Given the description of an element on the screen output the (x, y) to click on. 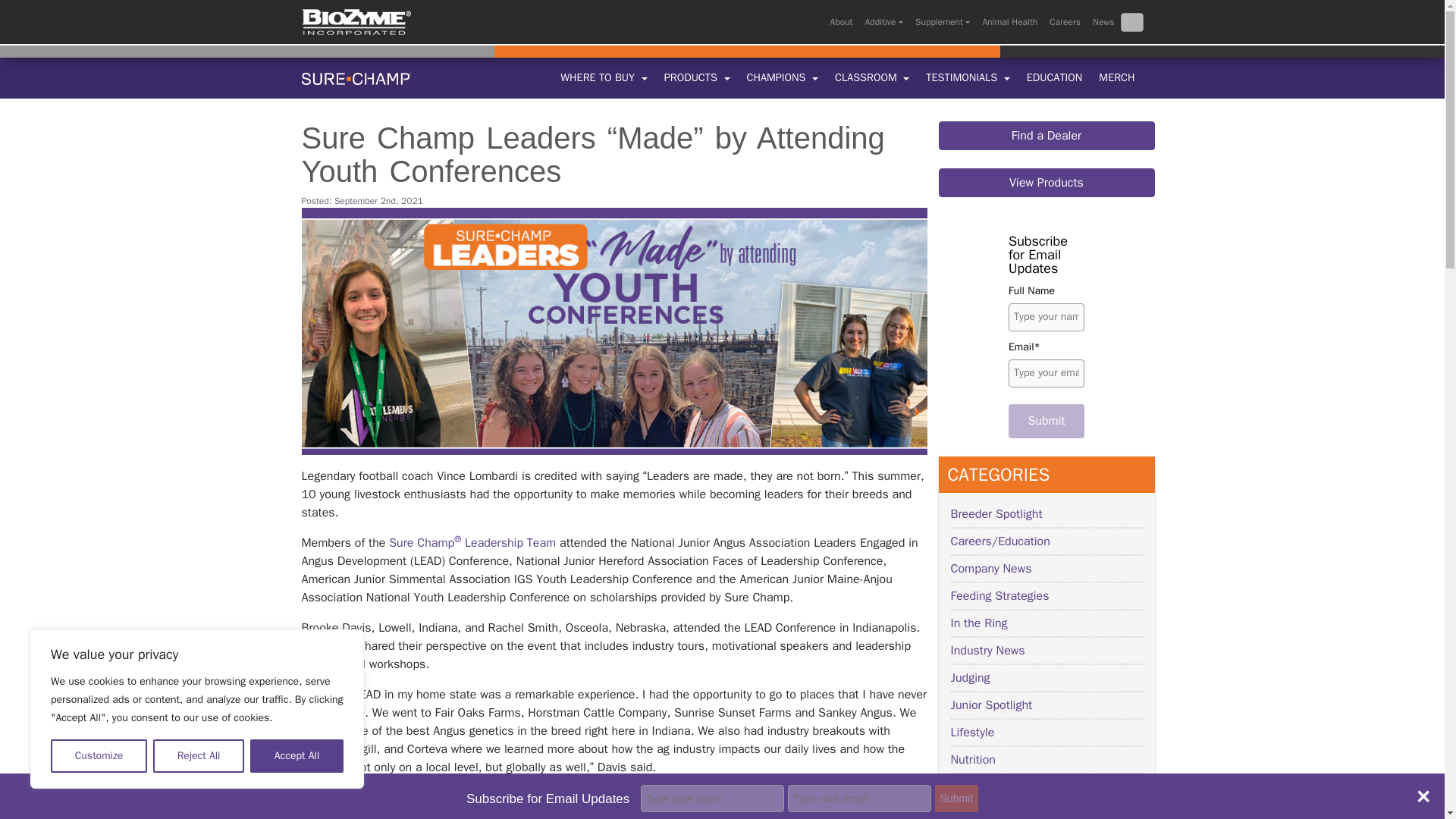
Careers (1064, 21)
Accept All (296, 756)
Additive (883, 21)
About (841, 21)
Reject All (198, 756)
Additives (883, 21)
Animal Health (1009, 21)
Animal Health (1009, 21)
Supplement (941, 21)
About (841, 21)
Customize (98, 756)
Supplements (941, 21)
News (1103, 21)
